Given the description of an element on the screen output the (x, y) to click on. 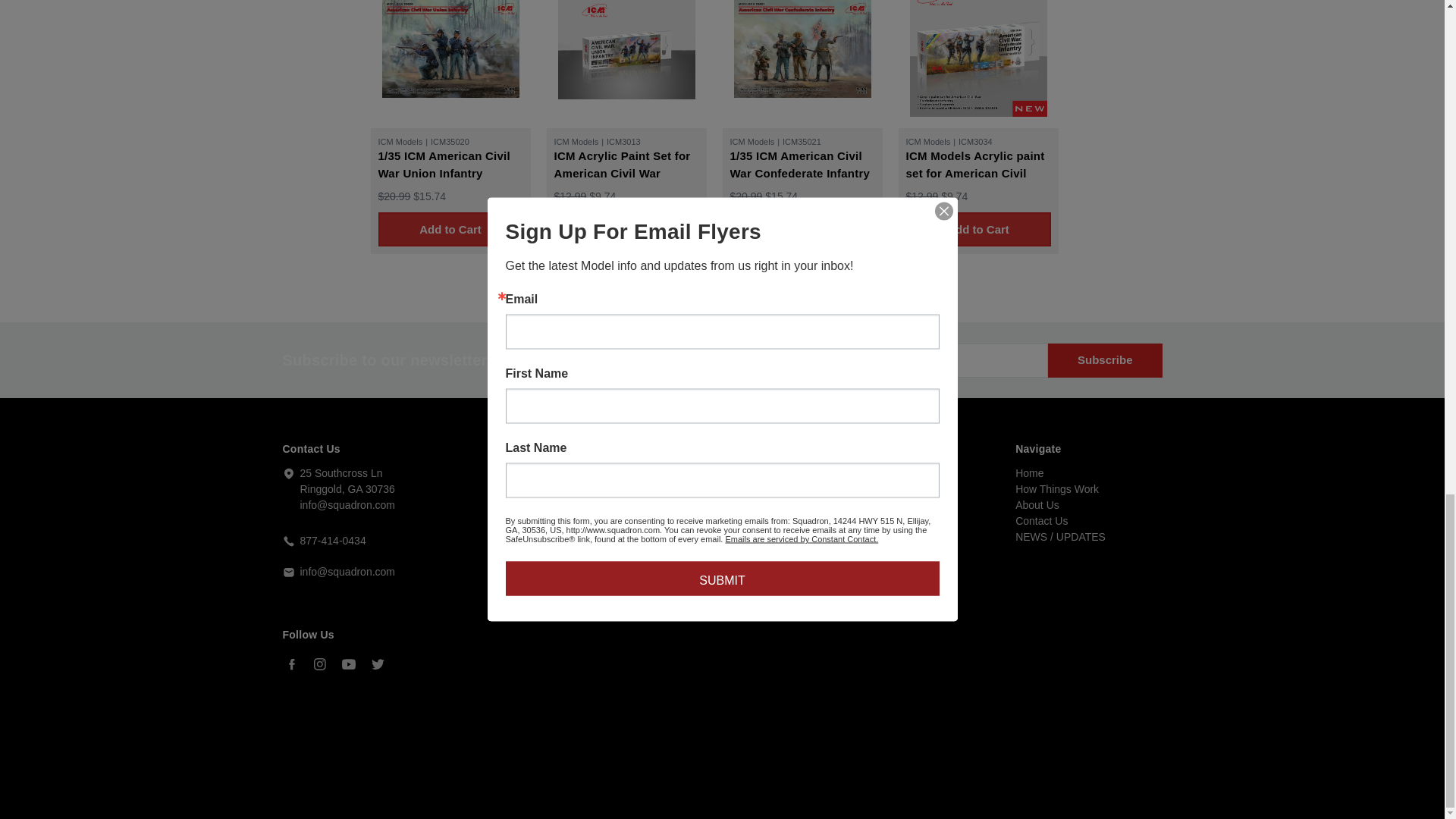
Subscribe (1104, 360)
